Given the description of an element on the screen output the (x, y) to click on. 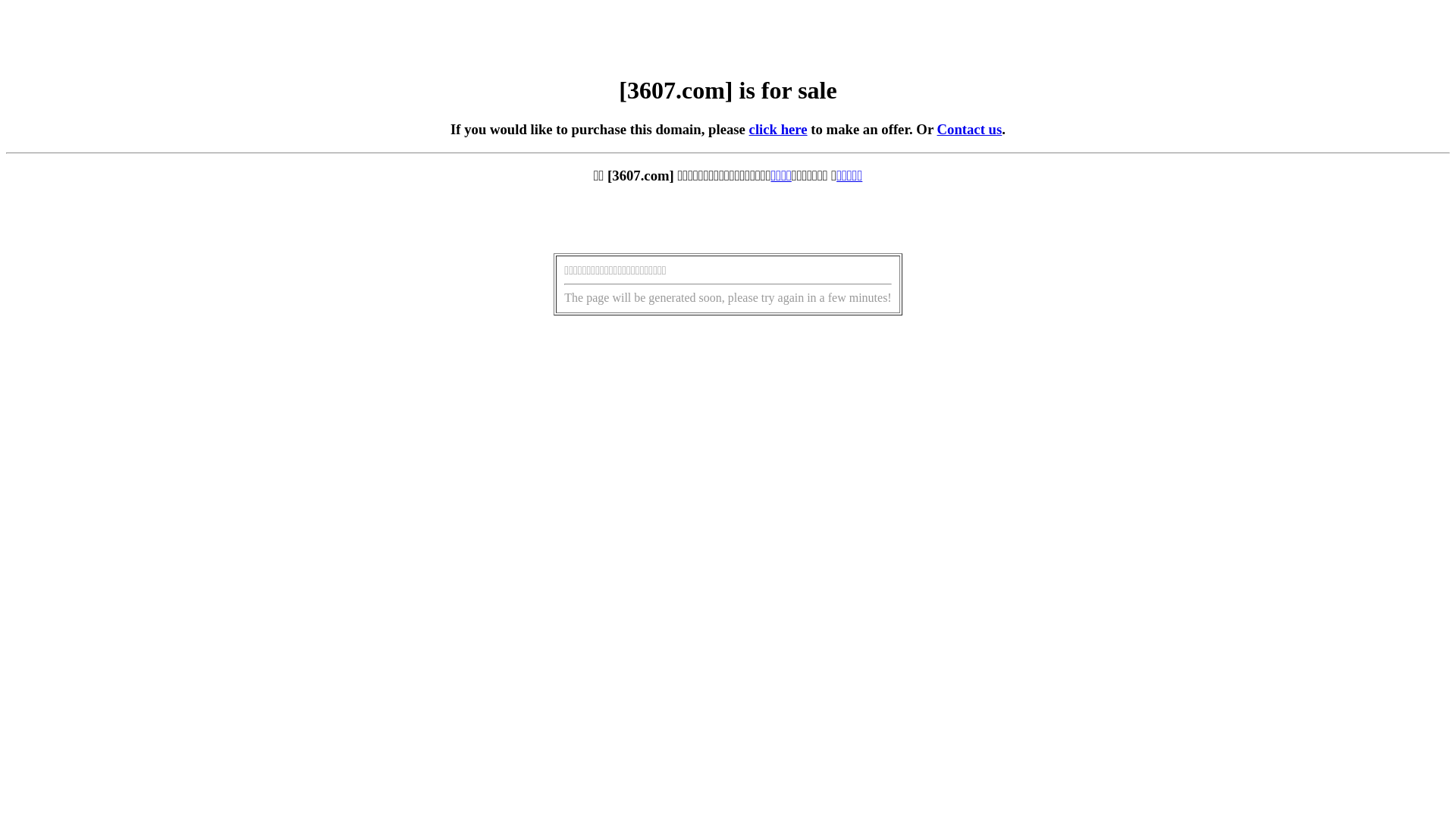
click here Element type: text (778, 129)
Contact us Element type: text (969, 129)
